Given the description of an element on the screen output the (x, y) to click on. 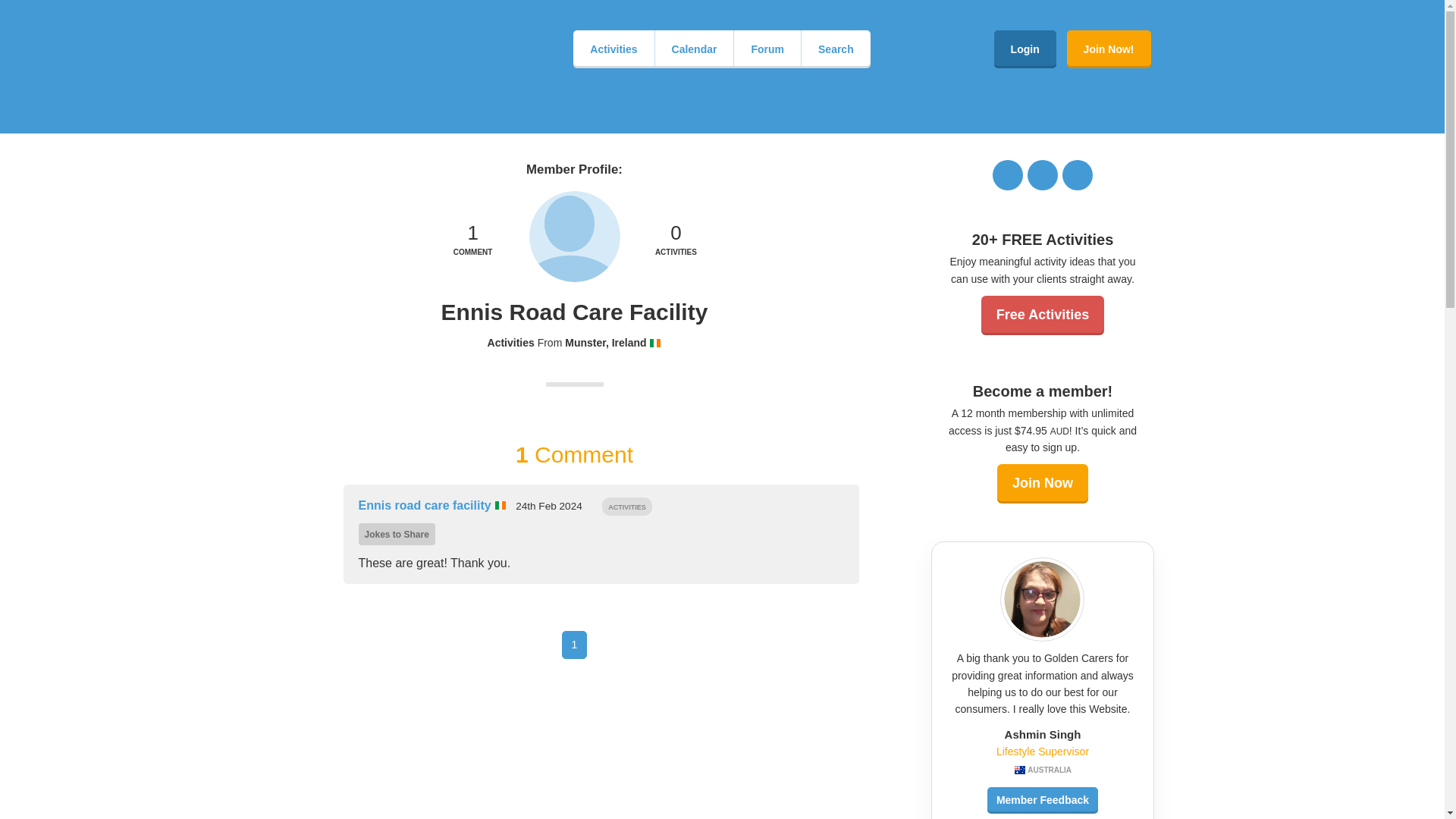
Submit an Activity Idea (675, 241)
Free Activities (1042, 314)
Member Feedback (1042, 800)
Forum (767, 48)
Login (1025, 48)
Connect with us on Facebook (1007, 174)
Join Now (675, 241)
Connect with us on Pinterest (473, 241)
